Given the description of an element on the screen output the (x, y) to click on. 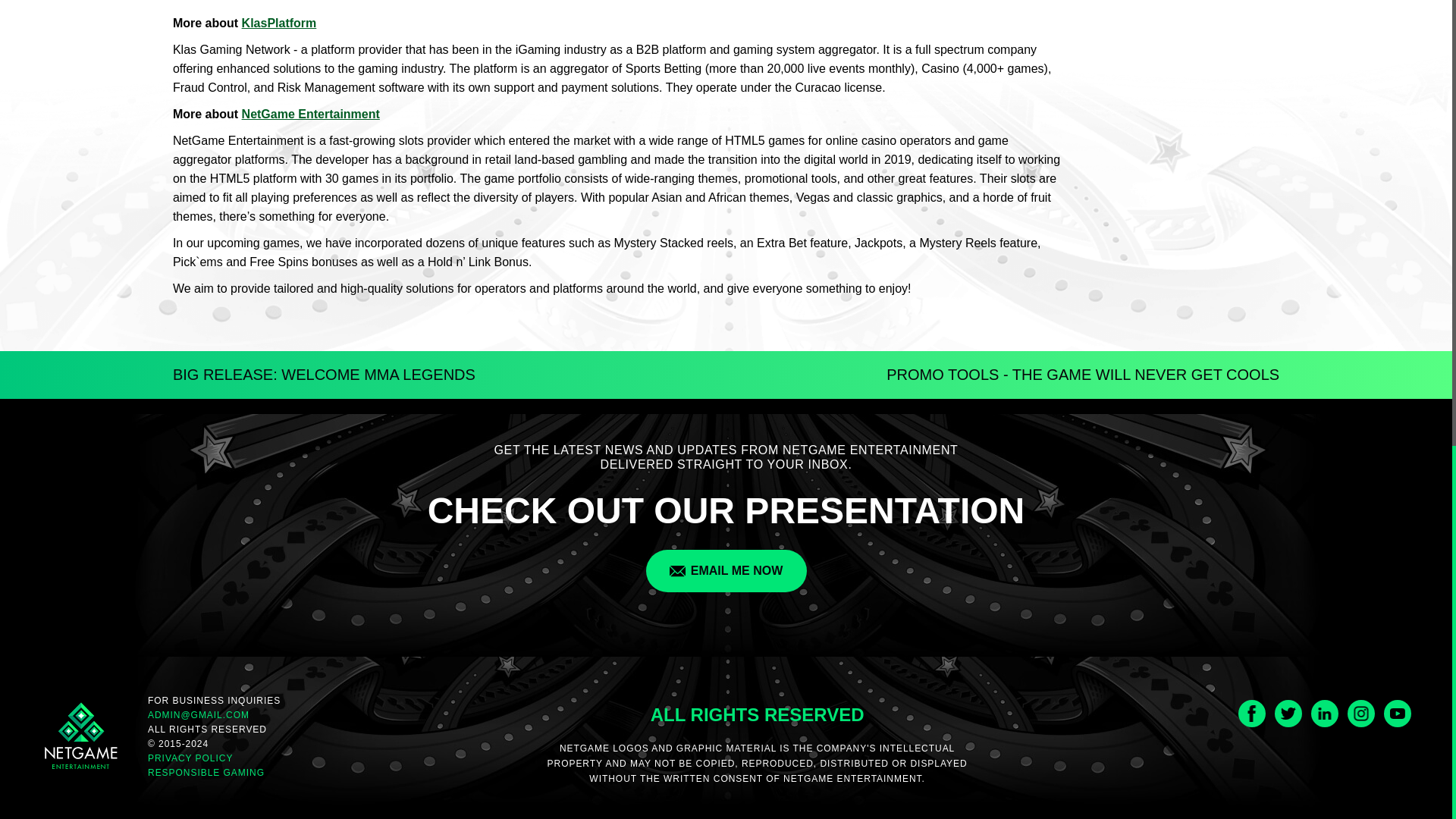
RESPONSIBLE GAMING (214, 772)
KlasPlatform (279, 22)
BIG RELEASE: WELCOME MMA LEGENDS (324, 375)
PRIVACY POLICY (214, 758)
EMAIL ME NOW (726, 570)
NetGame Entertainment (310, 113)
PROMO TOOLS - THE GAME WILL NEVER GET COOLS (1082, 375)
